Given the description of an element on the screen output the (x, y) to click on. 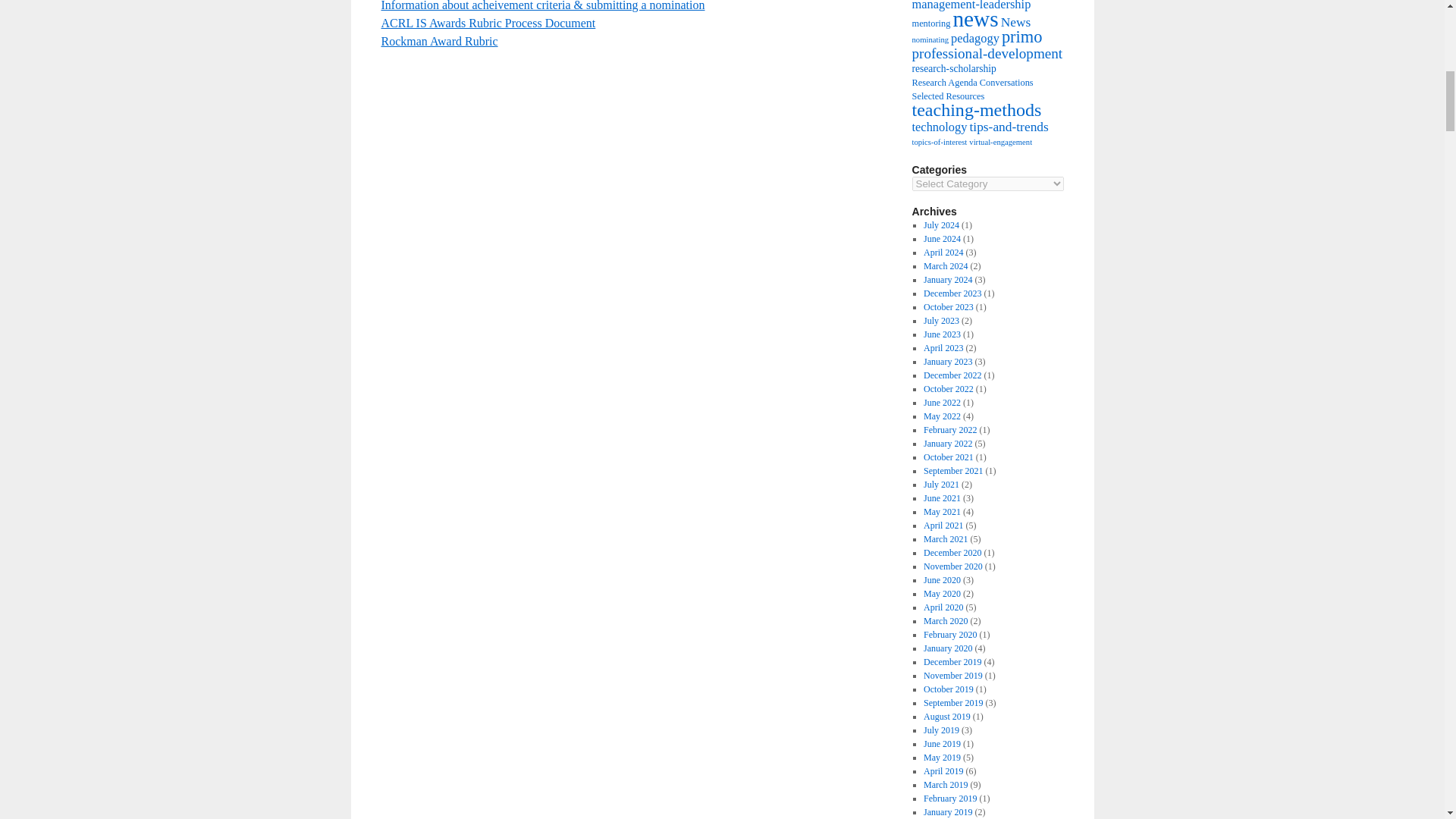
ACRL IS Awards Rubric Process Document (487, 22)
Ilene F. Rockman Publication of the Year Award Criteria (542, 5)
Rockman Award Rubric (438, 41)
